Given the description of an element on the screen output the (x, y) to click on. 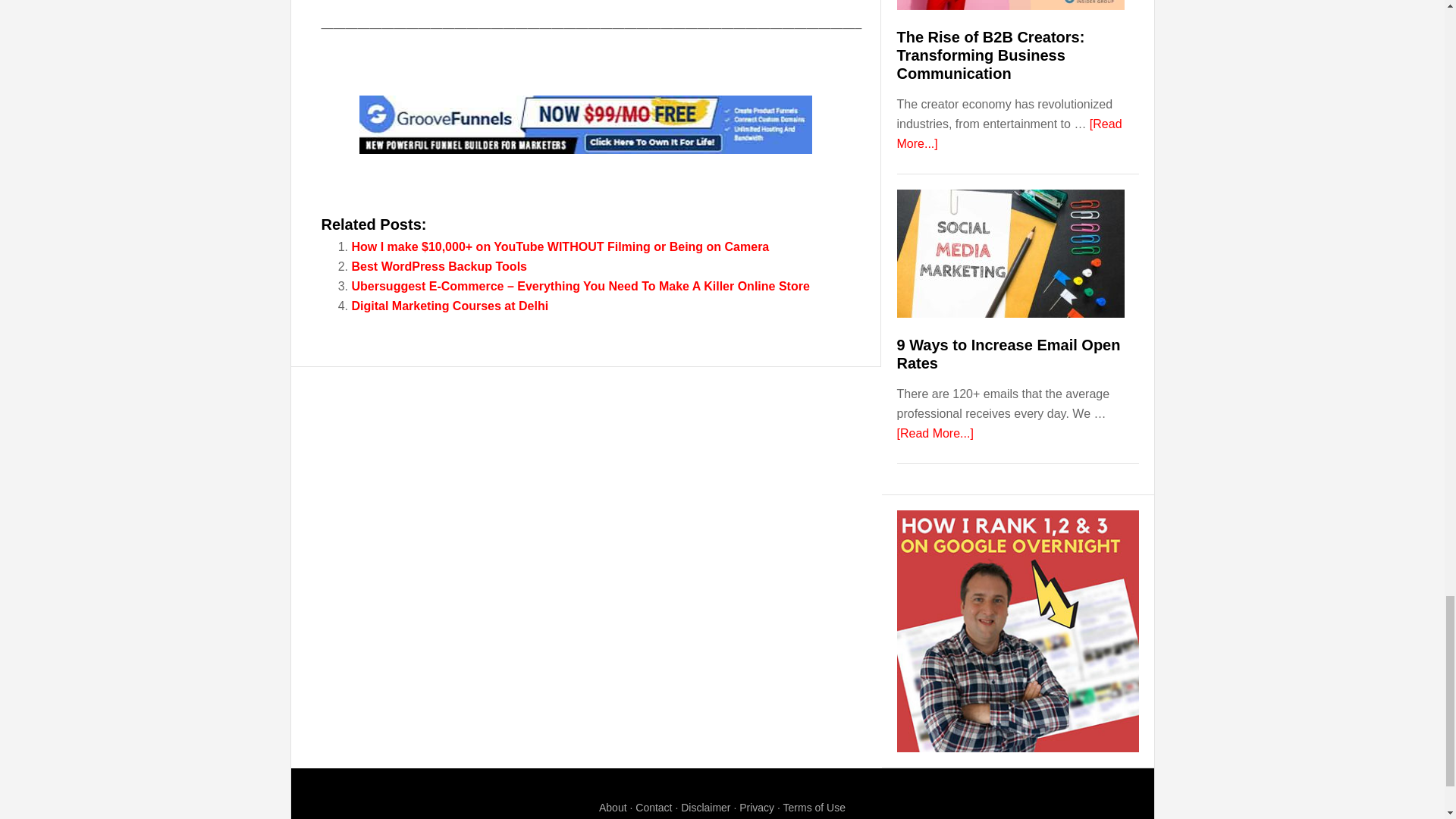
Best WordPress Backup Tools (439, 266)
Digital Marketing Courses at Delhi (450, 305)
Best WordPress Backup Tools (439, 266)
Digital Marketing Courses at Delhi (450, 305)
